Given the description of an element on the screen output the (x, y) to click on. 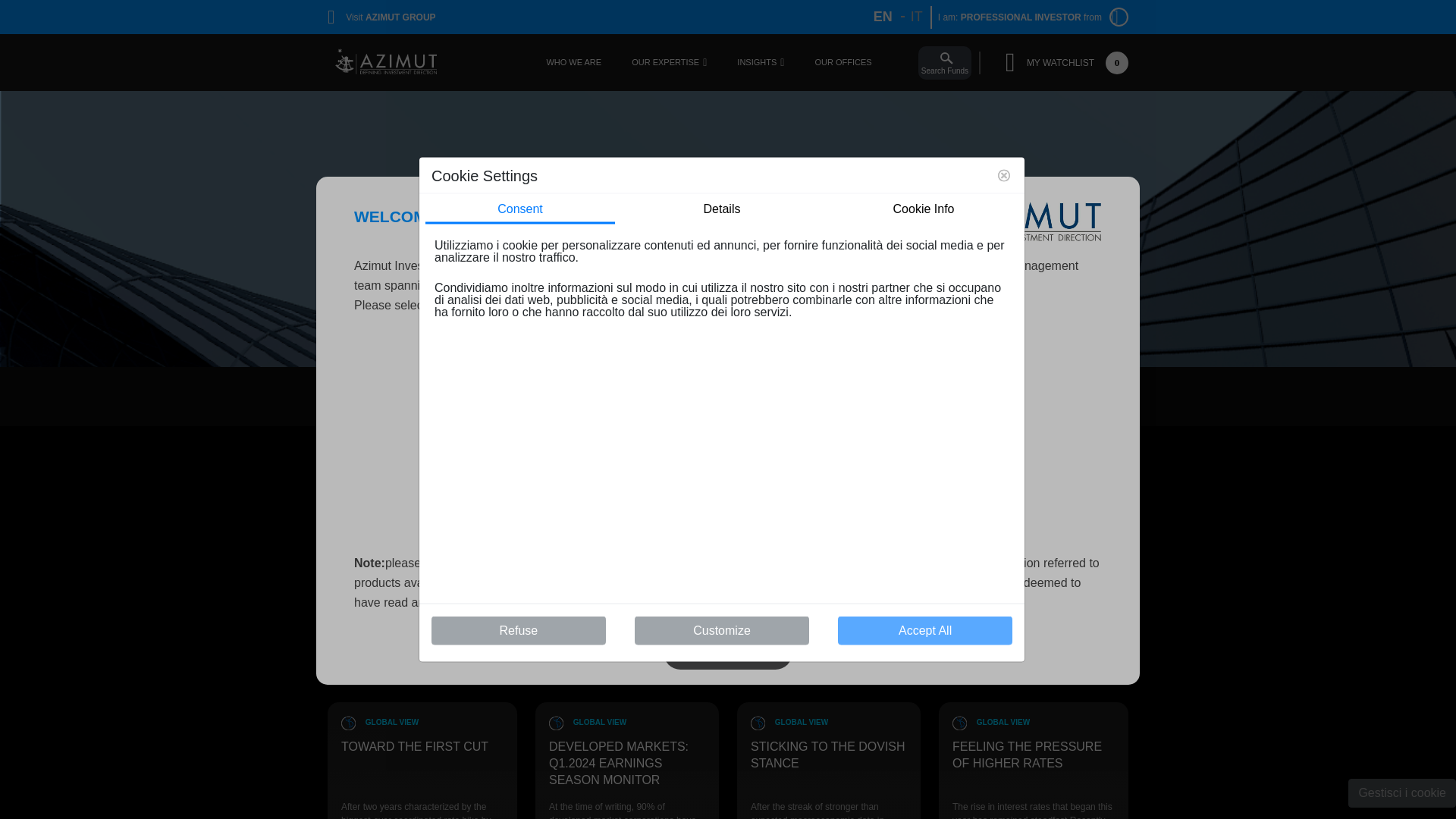
CONFIRM (727, 652)
OUR EXPERTISE (664, 62)
Visit AZIMUT GROUP (381, 17)
Go to Azimut Investments (386, 62)
INSIGHTS (756, 62)
terms and conditions (564, 602)
OUR OFFICES (841, 458)
IT (841, 62)
WHO WE ARE (916, 16)
